Given the description of an element on the screen output the (x, y) to click on. 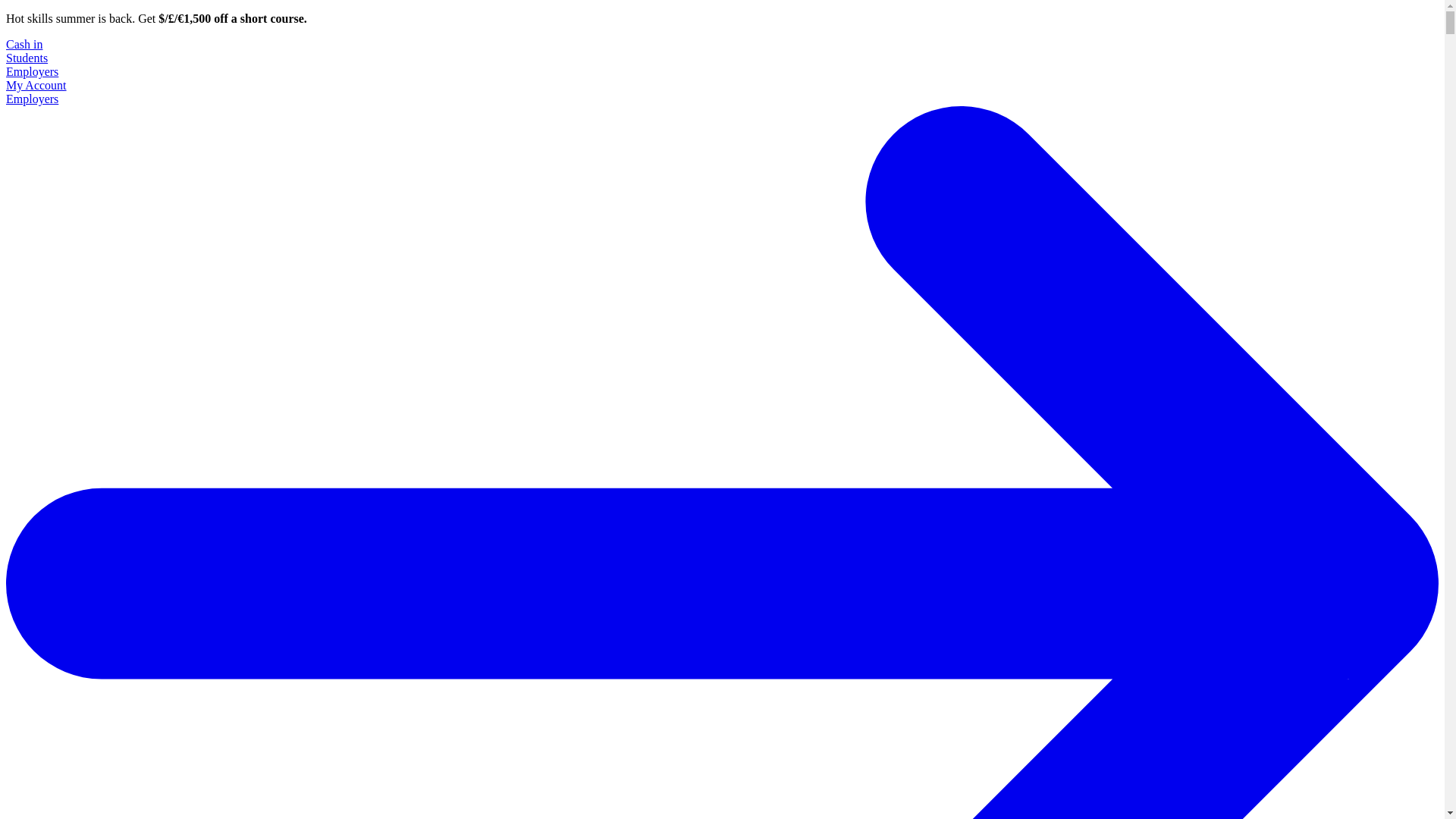
My Account (35, 84)
Students (26, 57)
Cash in (23, 43)
Employers (31, 71)
